Given the description of an element on the screen output the (x, y) to click on. 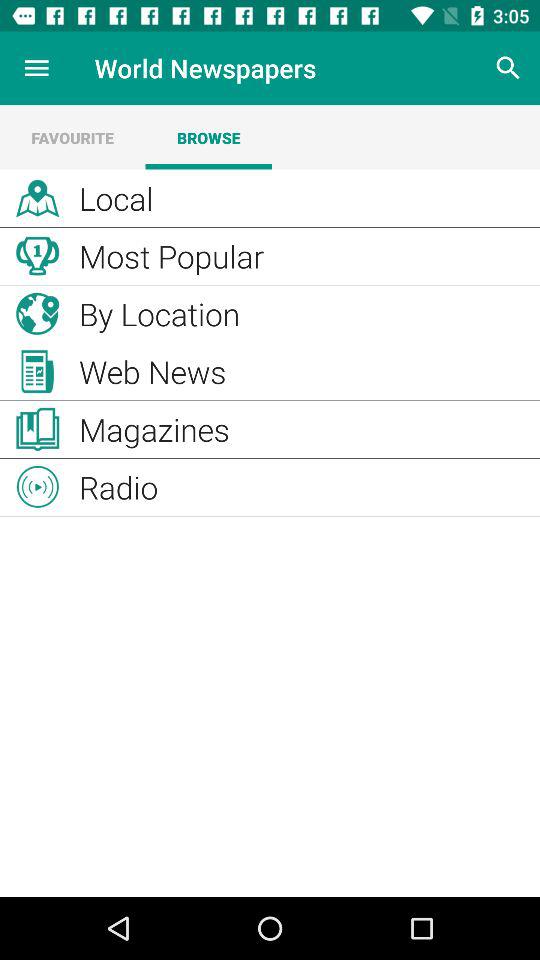
turn off the icon at the top right corner (508, 67)
